Given the description of an element on the screen output the (x, y) to click on. 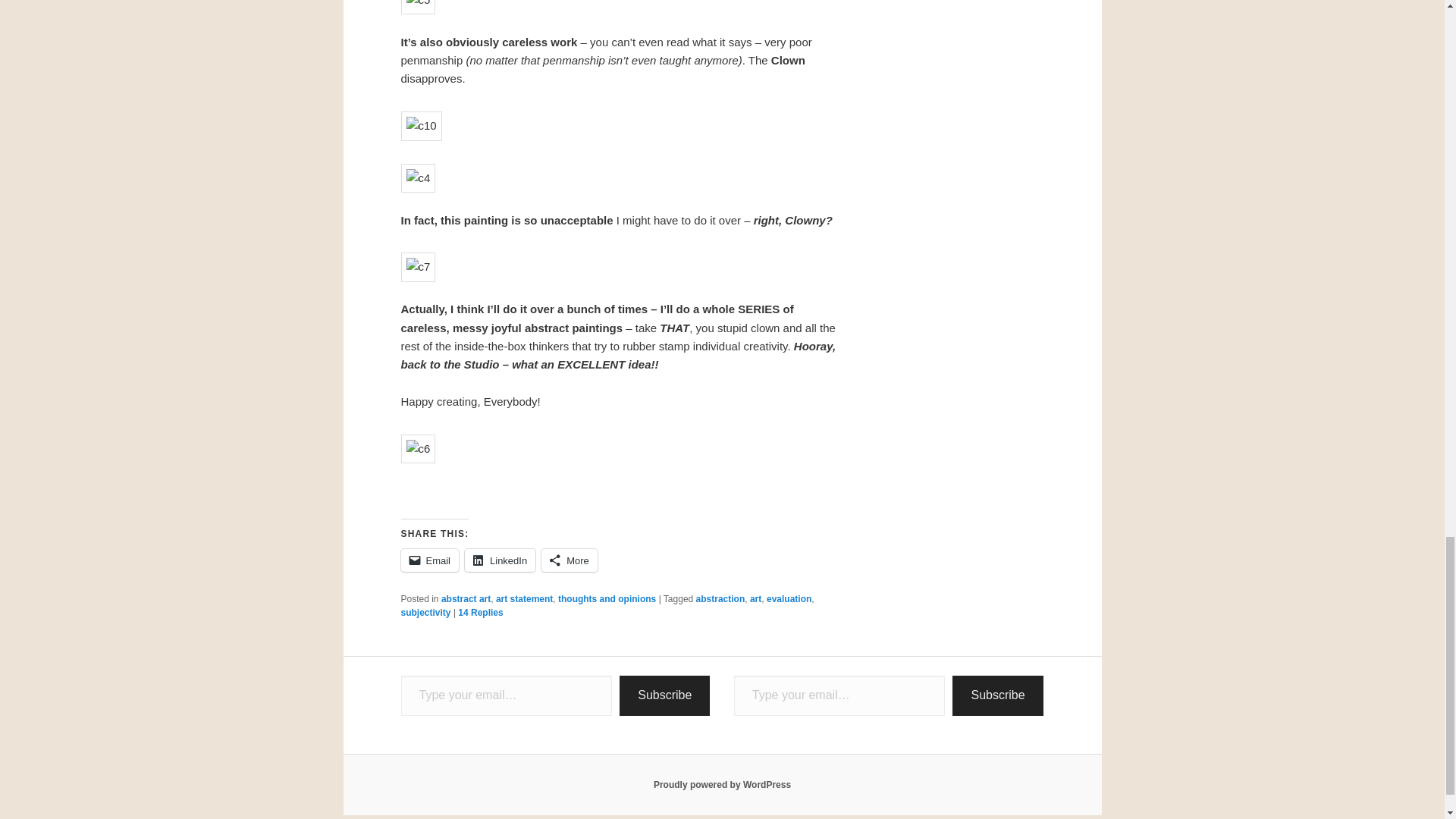
abstract art (465, 598)
art (755, 598)
14 Replies (480, 612)
subjectivity (424, 612)
Email (429, 559)
evaluation (788, 598)
More (568, 559)
LinkedIn (499, 559)
art statement (524, 598)
Click to share on LinkedIn (499, 559)
